Given the description of an element on the screen output the (x, y) to click on. 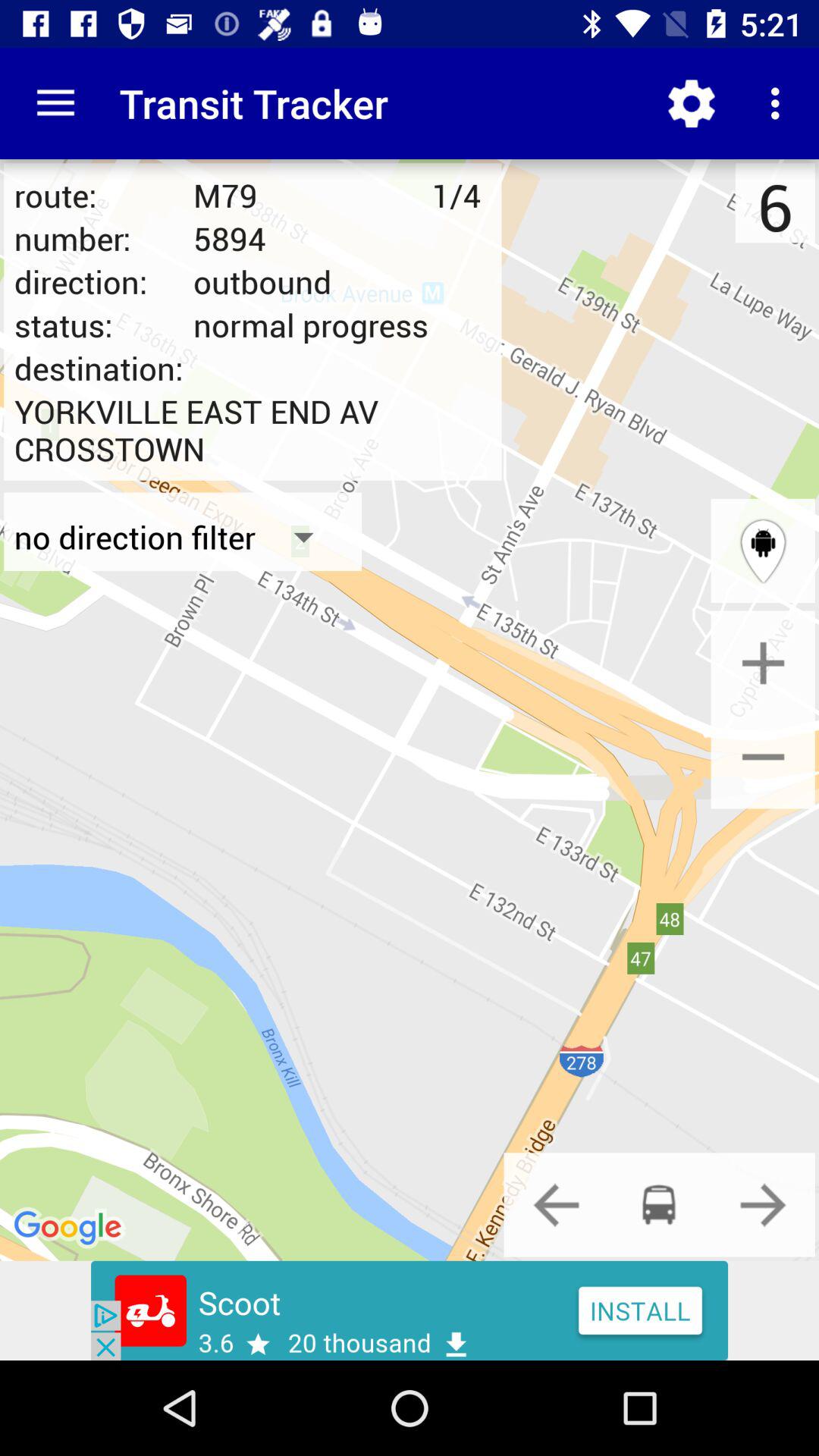
add item (762, 662)
